Given the description of an element on the screen output the (x, y) to click on. 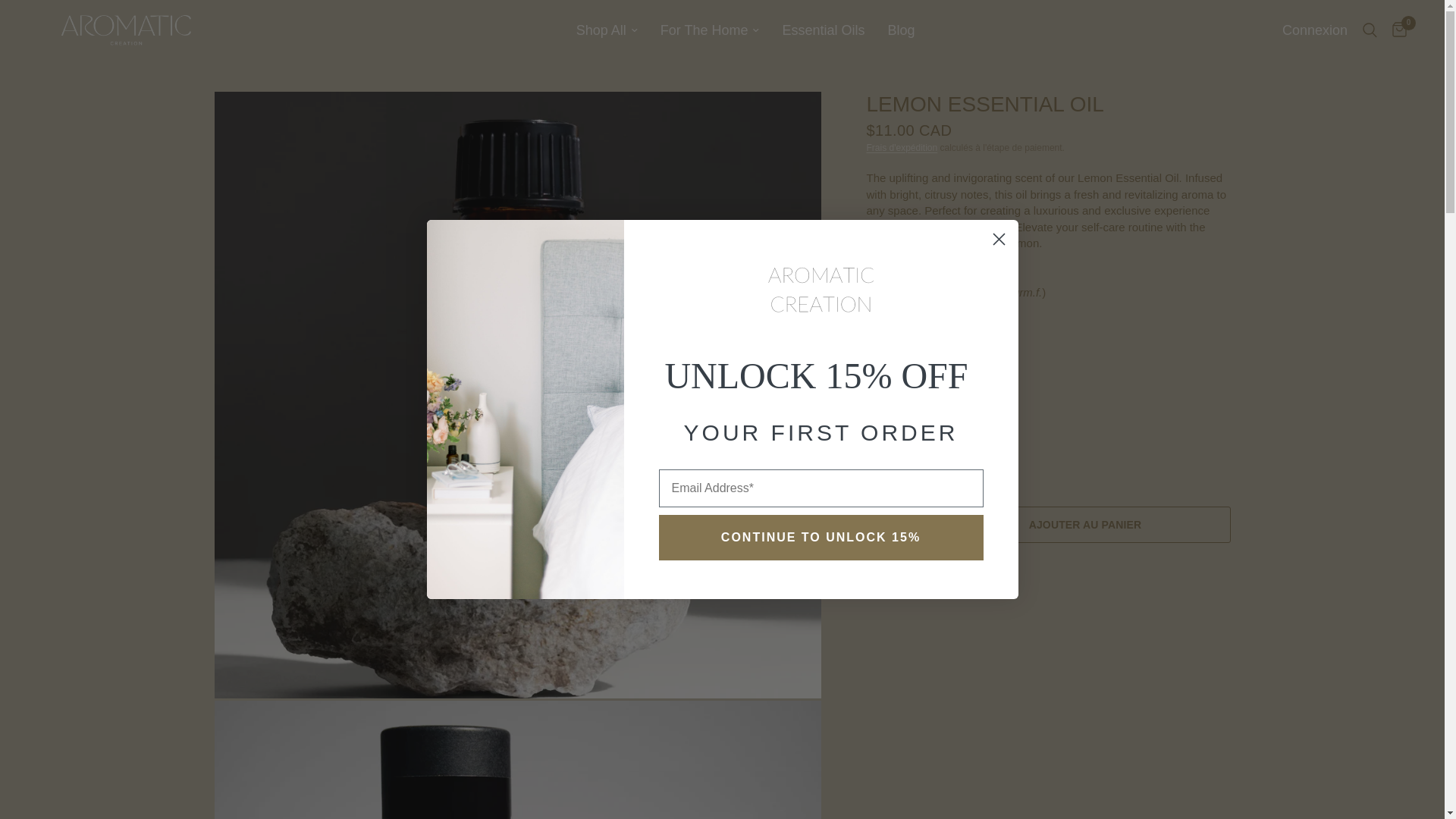
For The Home (710, 30)
Shop All (606, 30)
Essential Oils (822, 30)
Close dialog 1 (998, 239)
Mon compte (1315, 30)
Connexion (1315, 30)
Blog (900, 30)
